Given the description of an element on the screen output the (x, y) to click on. 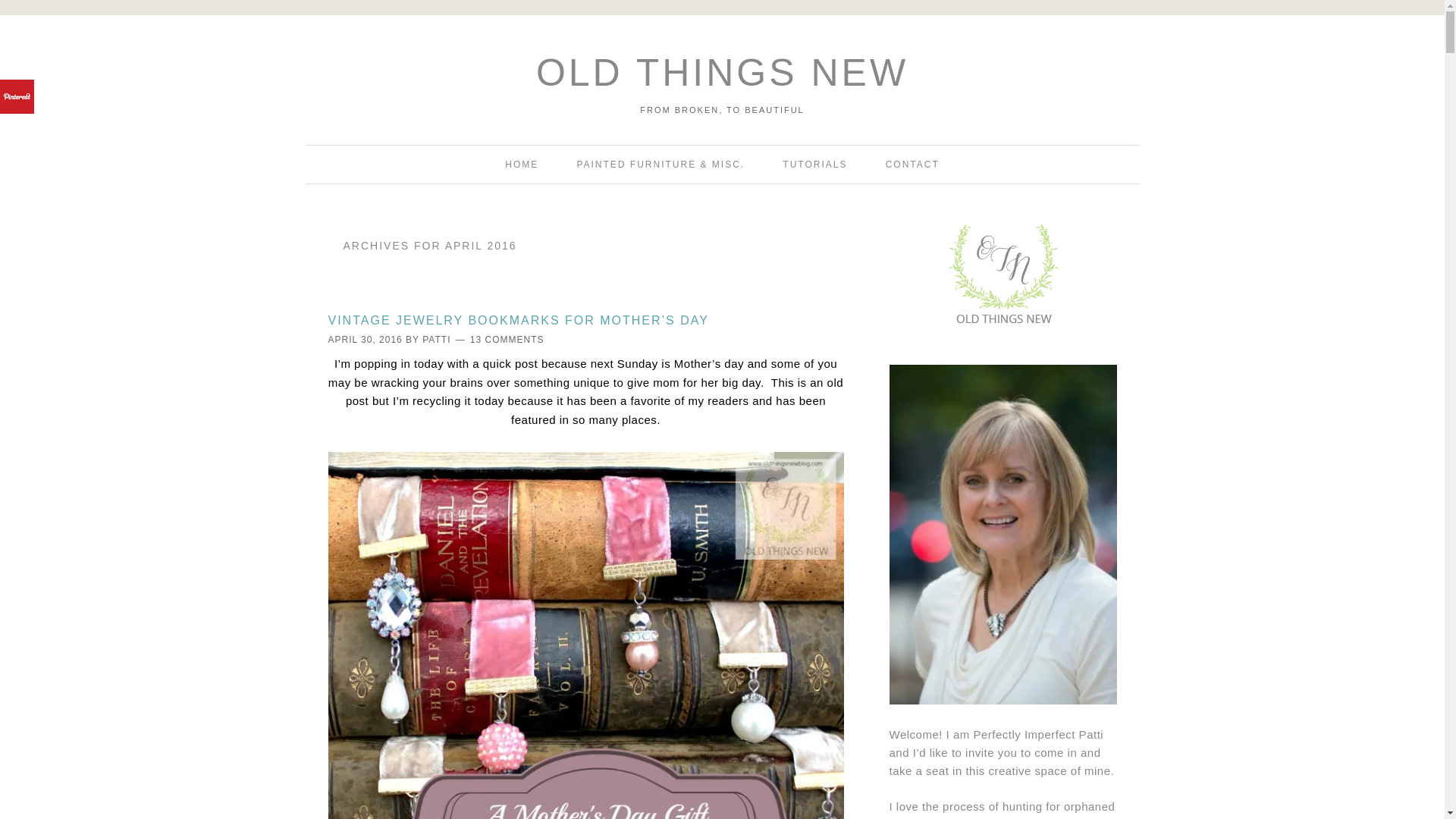
OLD THINGS NEW (721, 72)
TUTORIALS (814, 164)
PATTI (435, 339)
CONTACT (912, 164)
13 COMMENTS (507, 339)
HOME (520, 164)
